Given the description of an element on the screen output the (x, y) to click on. 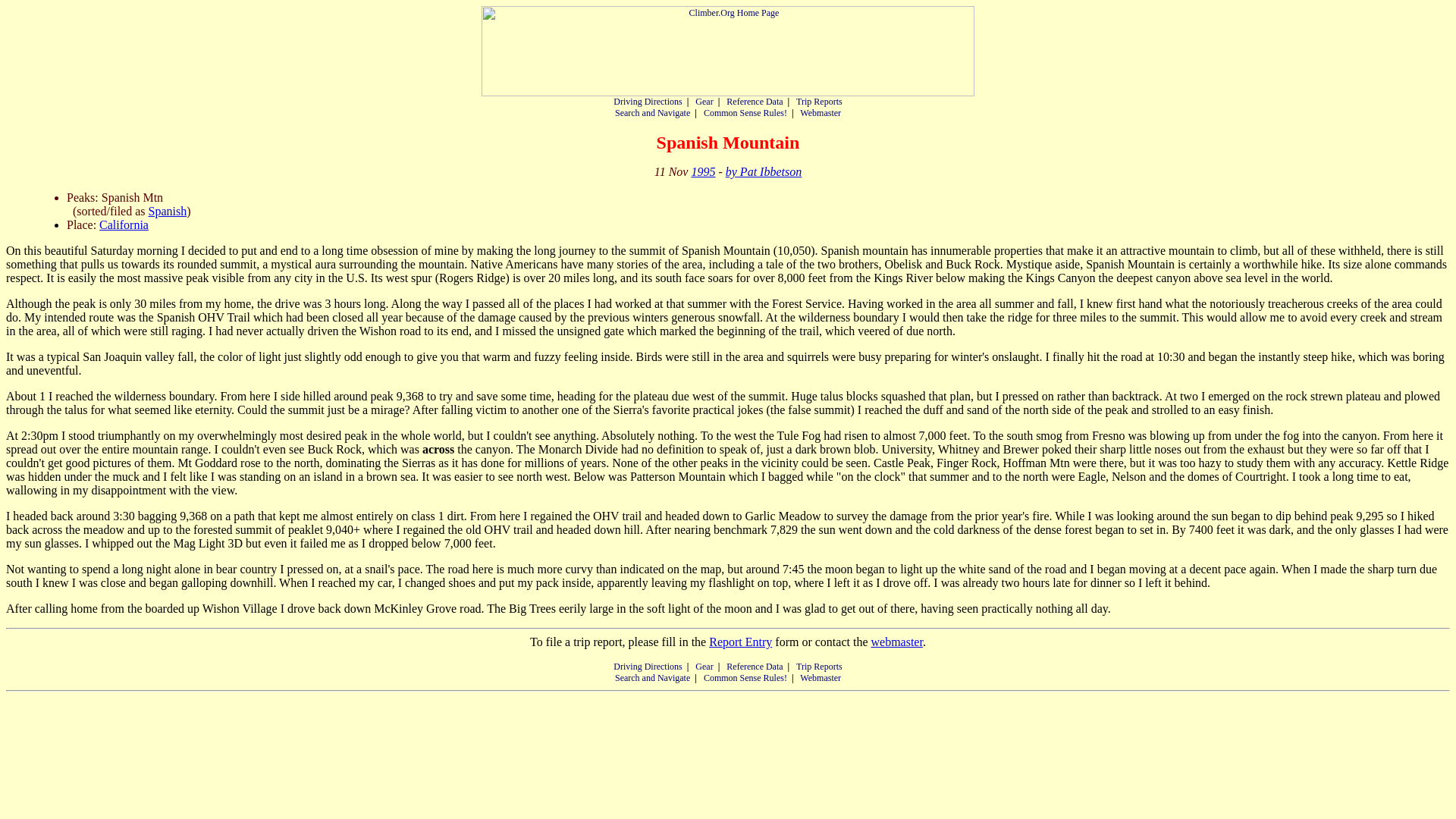
Gear (704, 665)
by Pat Ibbetson (763, 171)
Common Sense Rules! (745, 112)
Webmaster (820, 112)
webmaster (895, 641)
Trip Reports (819, 101)
Trip Reports (819, 665)
Search and Navigate (652, 677)
Driving Directions (646, 665)
Common Sense Rules! (745, 677)
Reference Data (754, 101)
Report Entry (740, 641)
California (123, 224)
Reference Data (754, 665)
Climber.Org Home Page (727, 50)
